Given the description of an element on the screen output the (x, y) to click on. 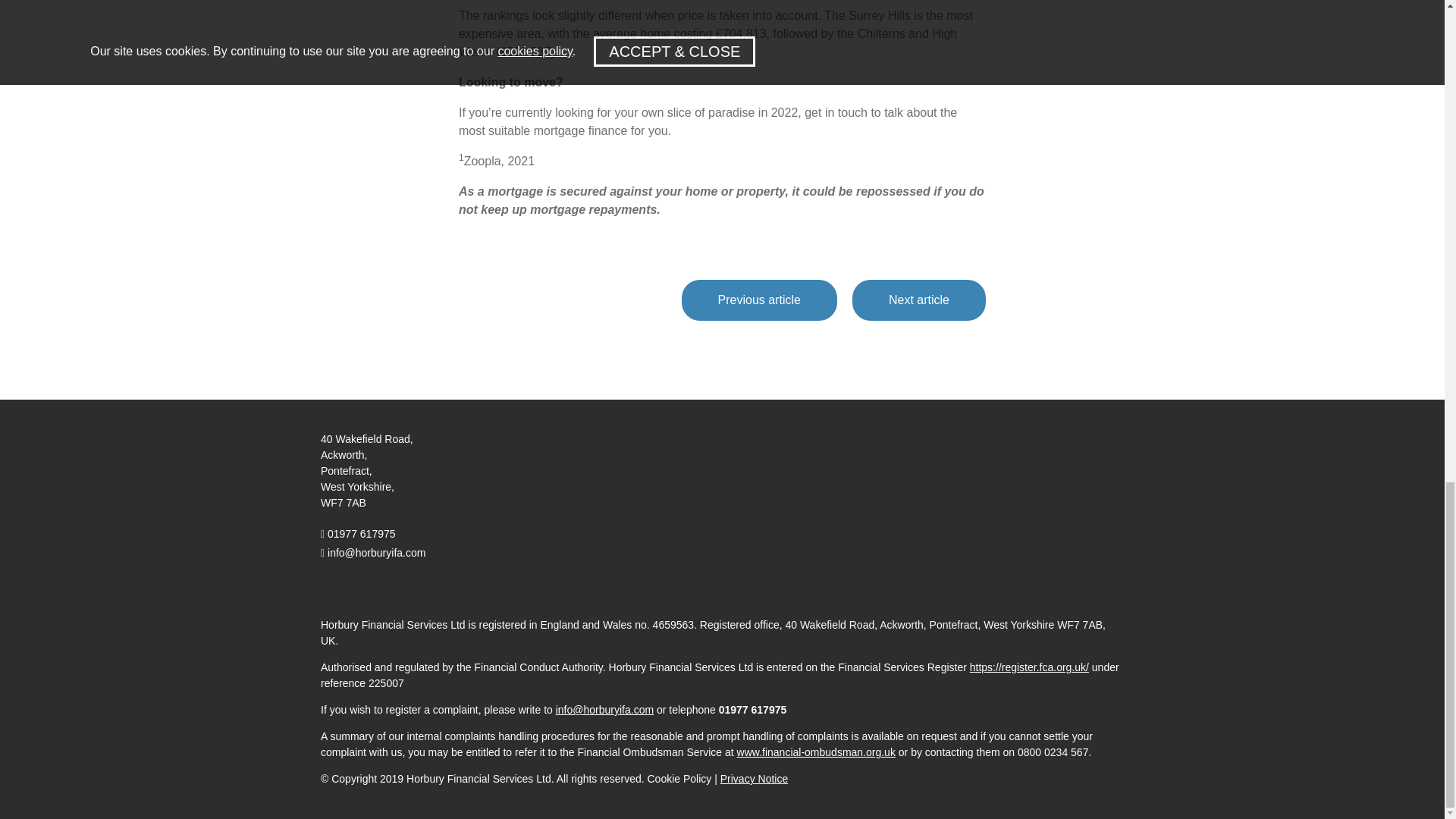
Previous article (759, 300)
www.financial-ombudsman.org.uk (815, 752)
01977 617975 (361, 533)
Privacy Notice (753, 778)
Next article (918, 300)
